Given the description of an element on the screen output the (x, y) to click on. 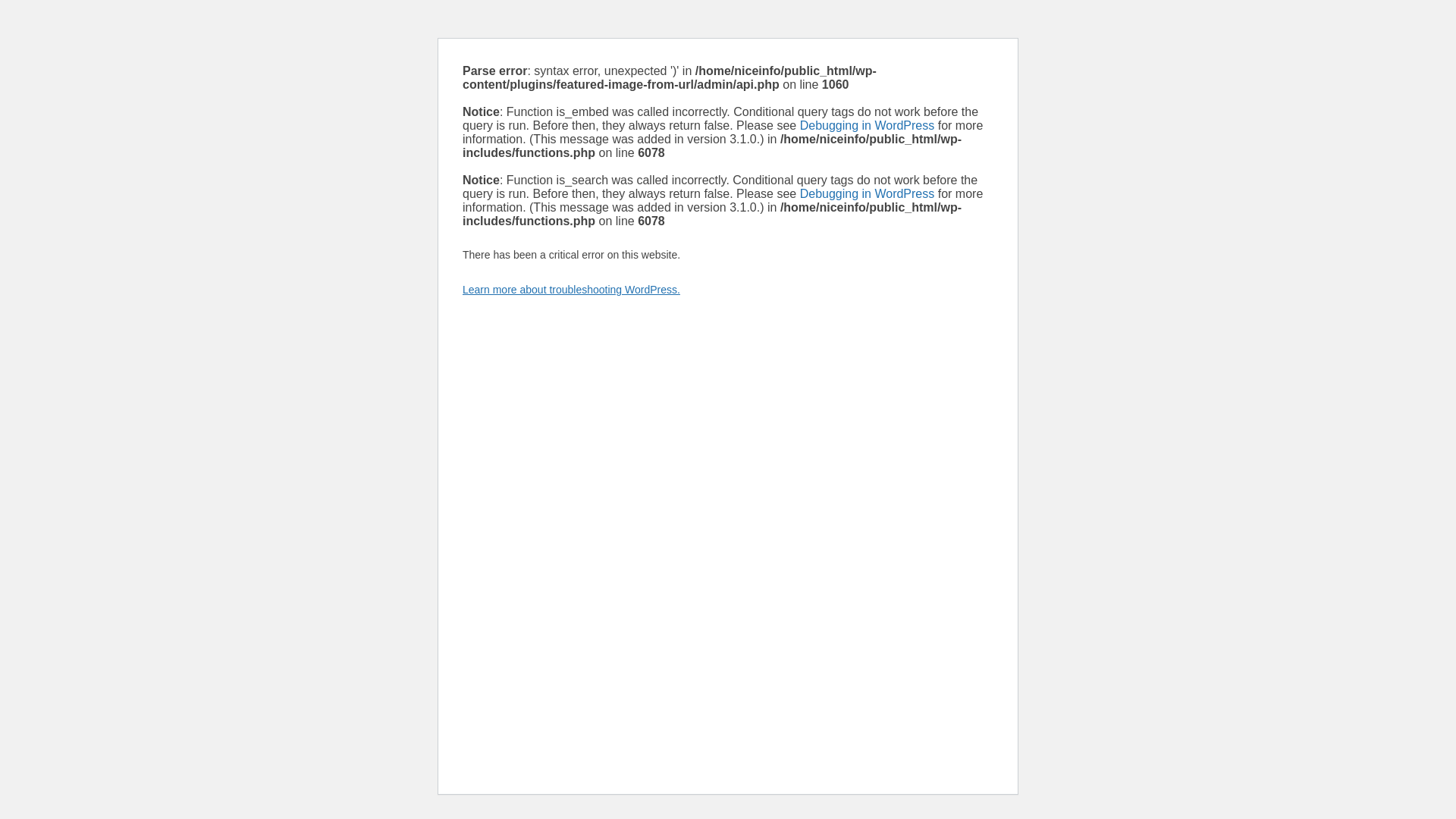
Debugging in WordPress (866, 193)
Debugging in WordPress (866, 124)
Learn more about troubleshooting WordPress. (571, 289)
